Given the description of an element on the screen output the (x, y) to click on. 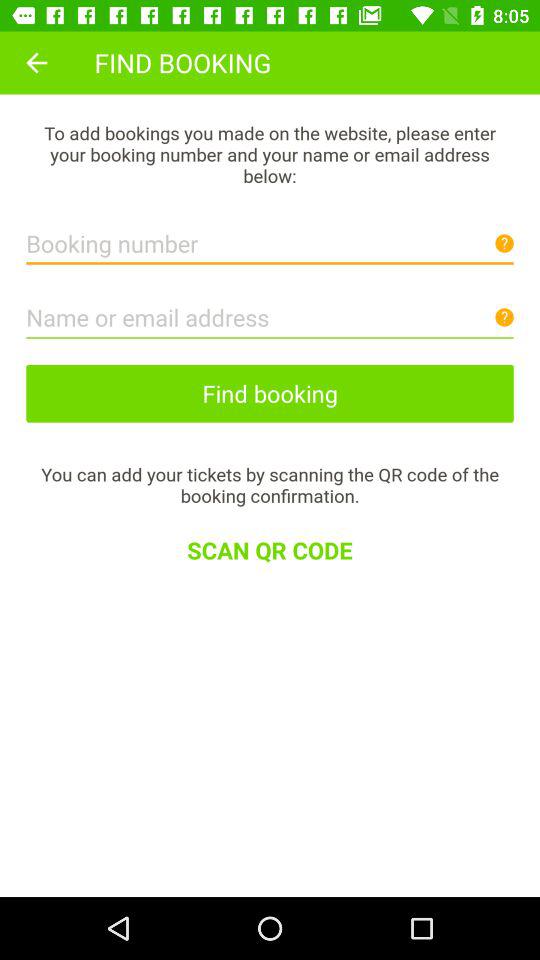
enter name or email address (269, 311)
